Given the description of an element on the screen output the (x, y) to click on. 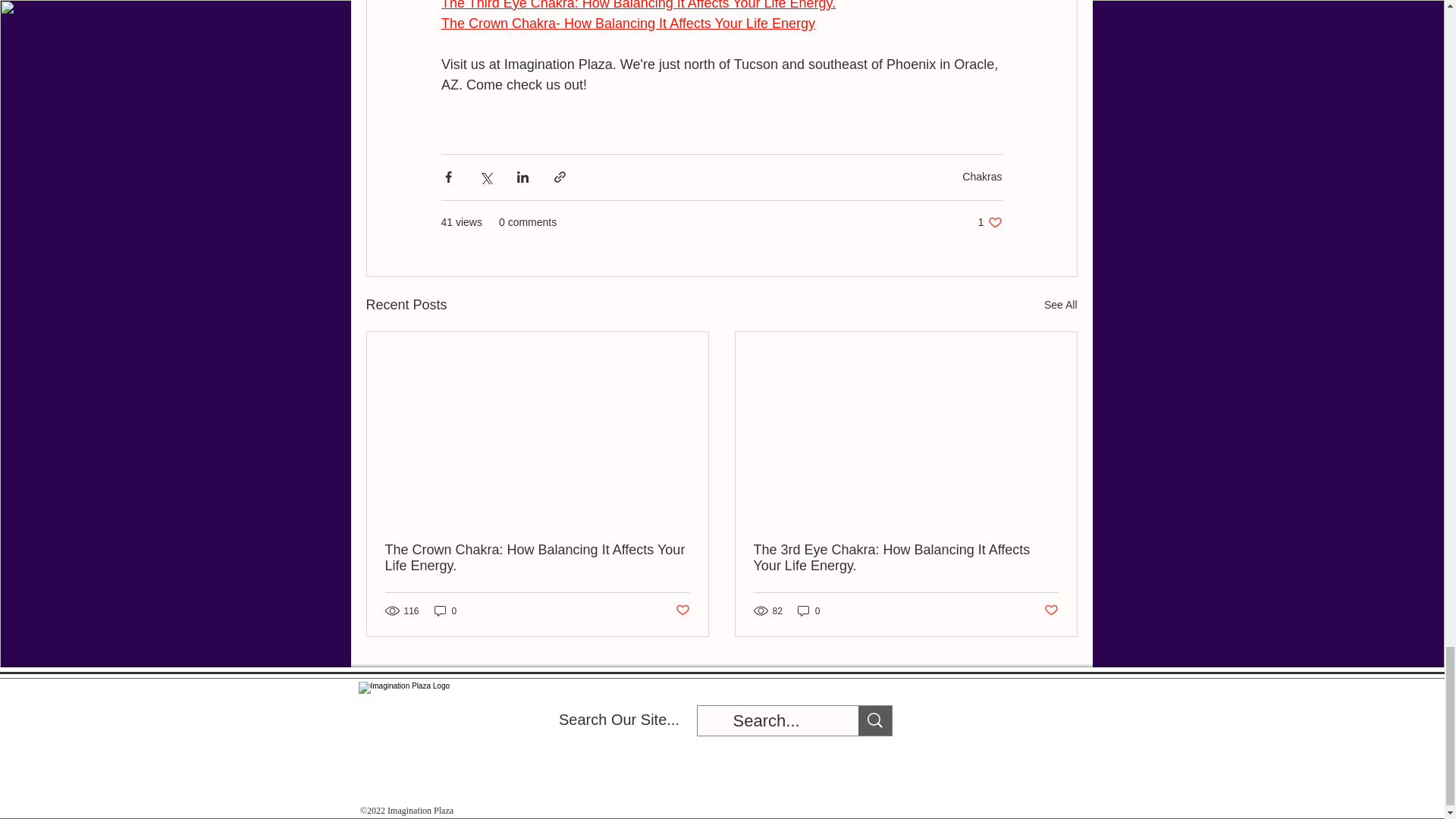
0 (445, 610)
Post not marked as liked (681, 610)
The Crown Chakra: How Balancing It Affects Your Life Energy. (537, 558)
0 (809, 610)
See All (1060, 305)
Chakras (981, 176)
Post not marked as liked (1050, 610)
